Given the description of an element on the screen output the (x, y) to click on. 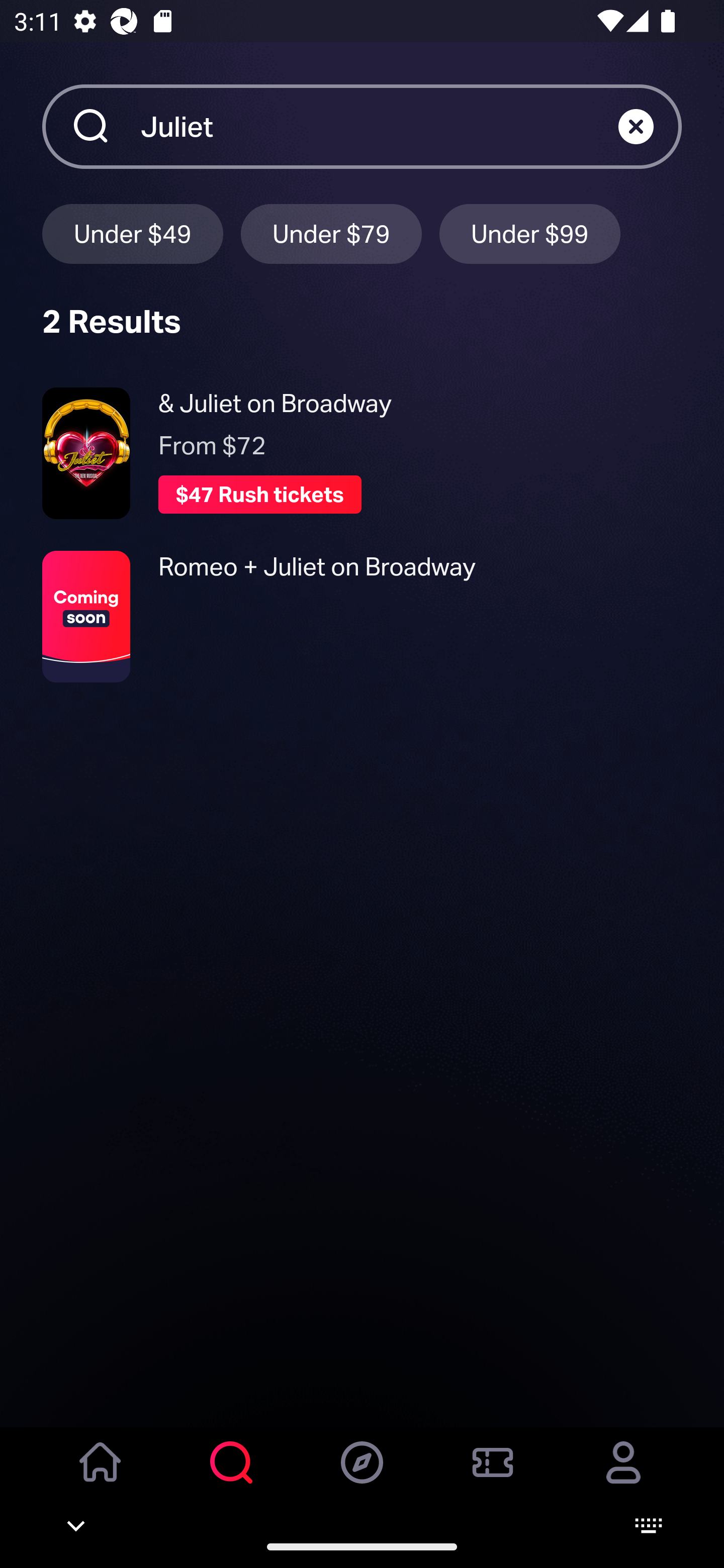
Juliet (379, 126)
Under $49 (131, 233)
Under $79 (331, 233)
Under $99 (529, 233)
Home (100, 1475)
Discover (361, 1475)
Orders (492, 1475)
Account (623, 1475)
